Given the description of an element on the screen output the (x, y) to click on. 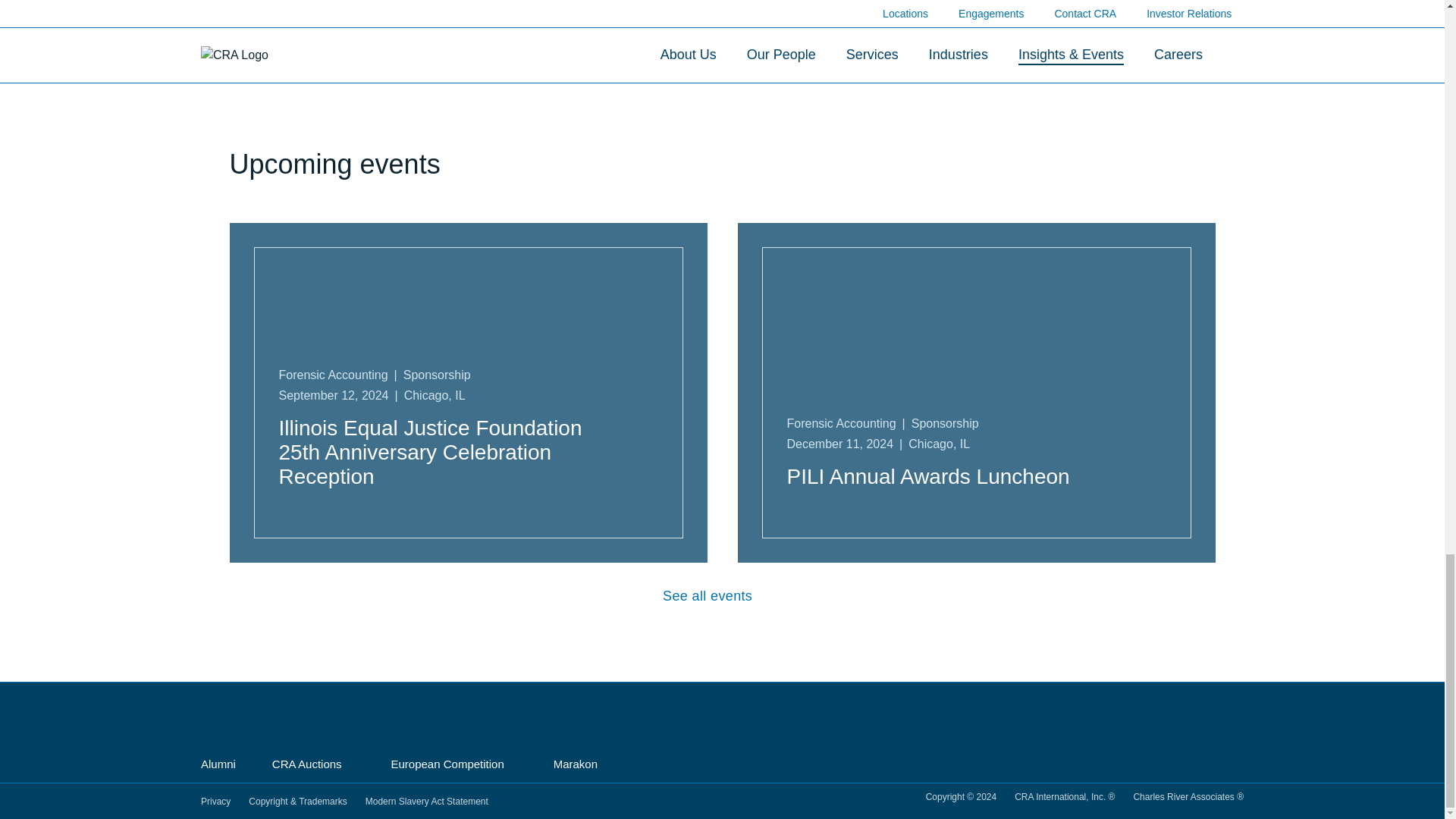
CRA Auctions (313, 763)
European Competition (453, 763)
See all events (721, 595)
Explore our thinking (722, 63)
Alumni (217, 765)
Marakon (581, 763)
